Given the description of an element on the screen output the (x, y) to click on. 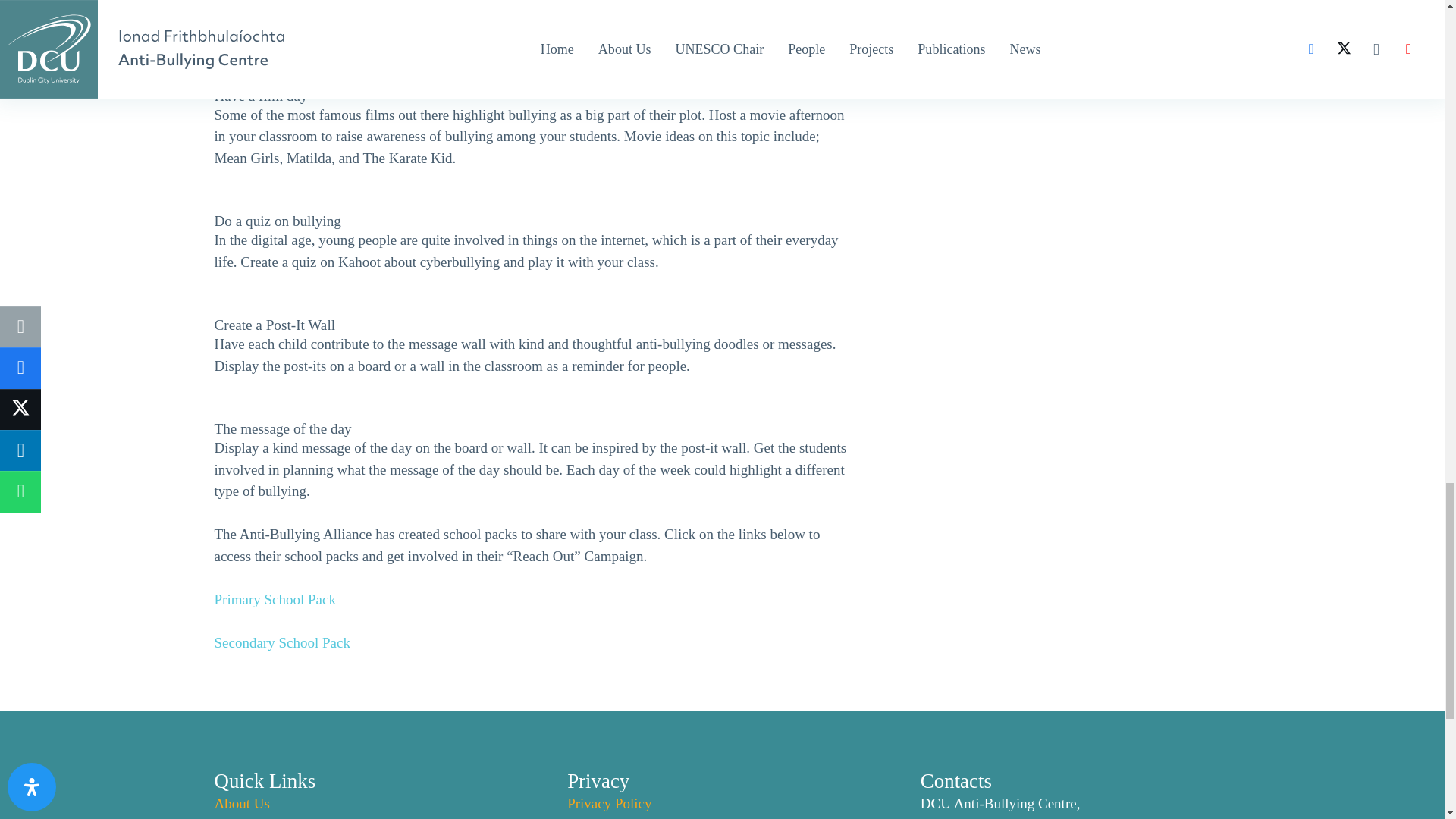
About Us (241, 803)
Secondary School Pack (281, 642)
Privacy Policy (608, 803)
Primary School Pack (274, 599)
